Given the description of an element on the screen output the (x, y) to click on. 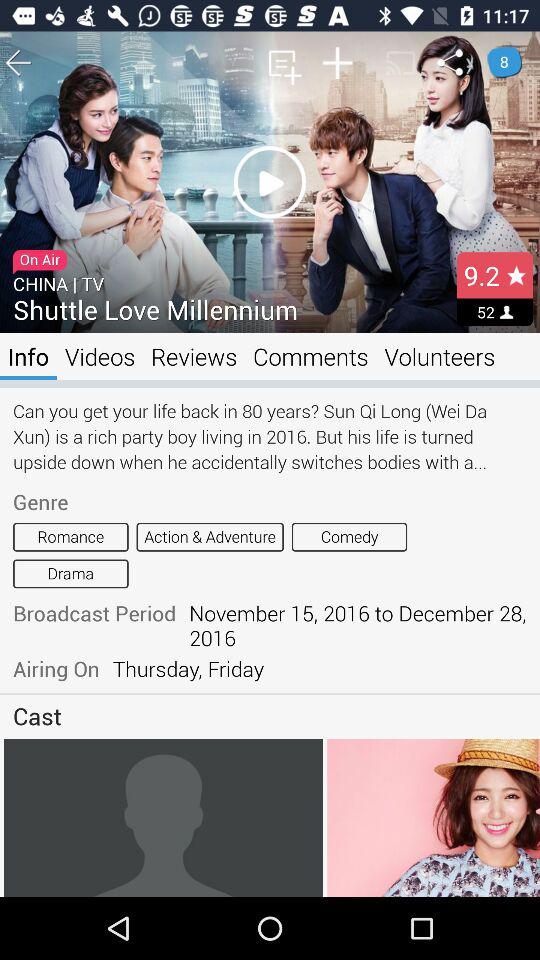
tap icon next to info app (100, 356)
